Given the description of an element on the screen output the (x, y) to click on. 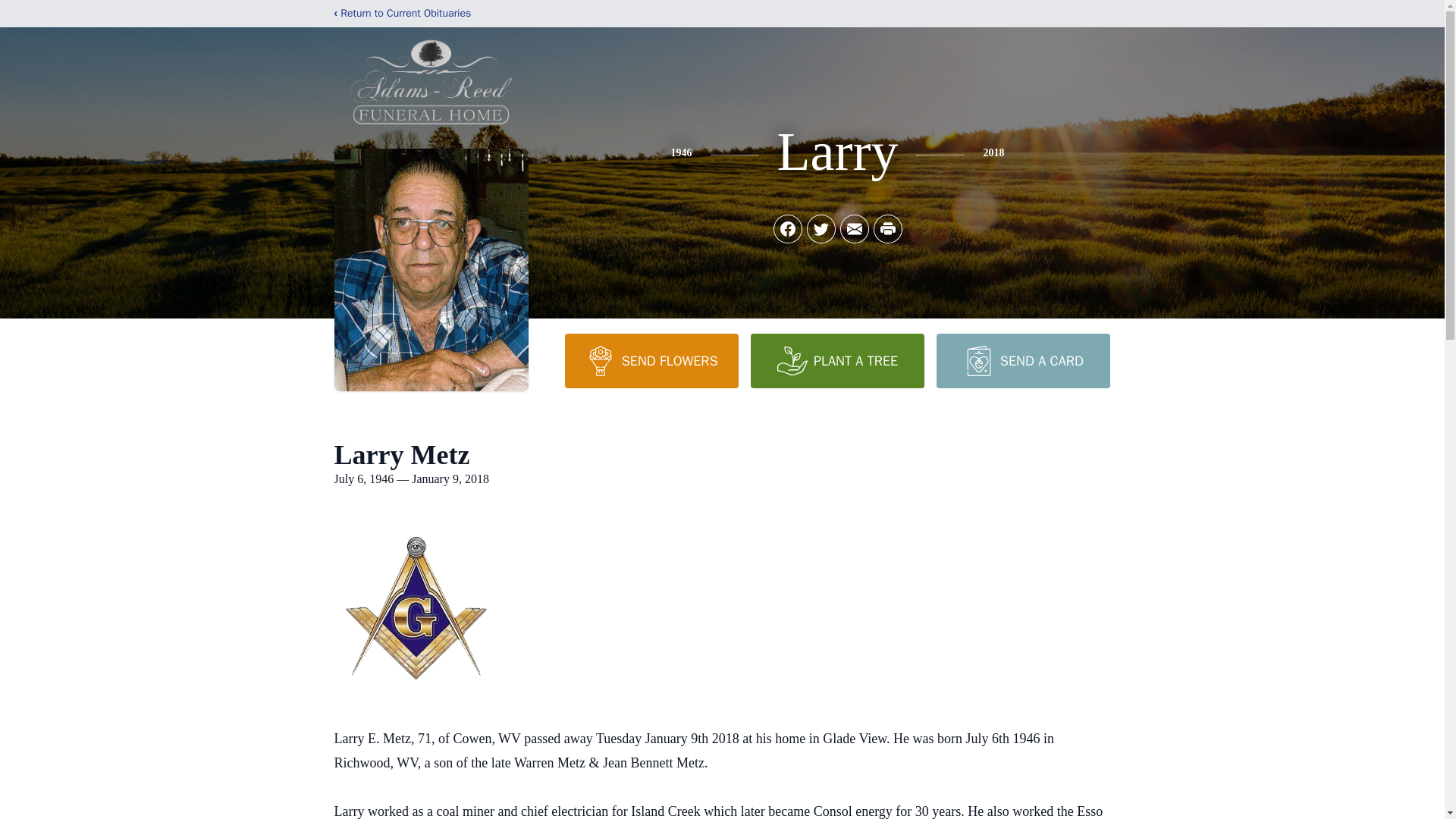
PLANT A TREE (837, 360)
SEND FLOWERS (651, 360)
SEND A CARD (1022, 360)
